Given the description of an element on the screen output the (x, y) to click on. 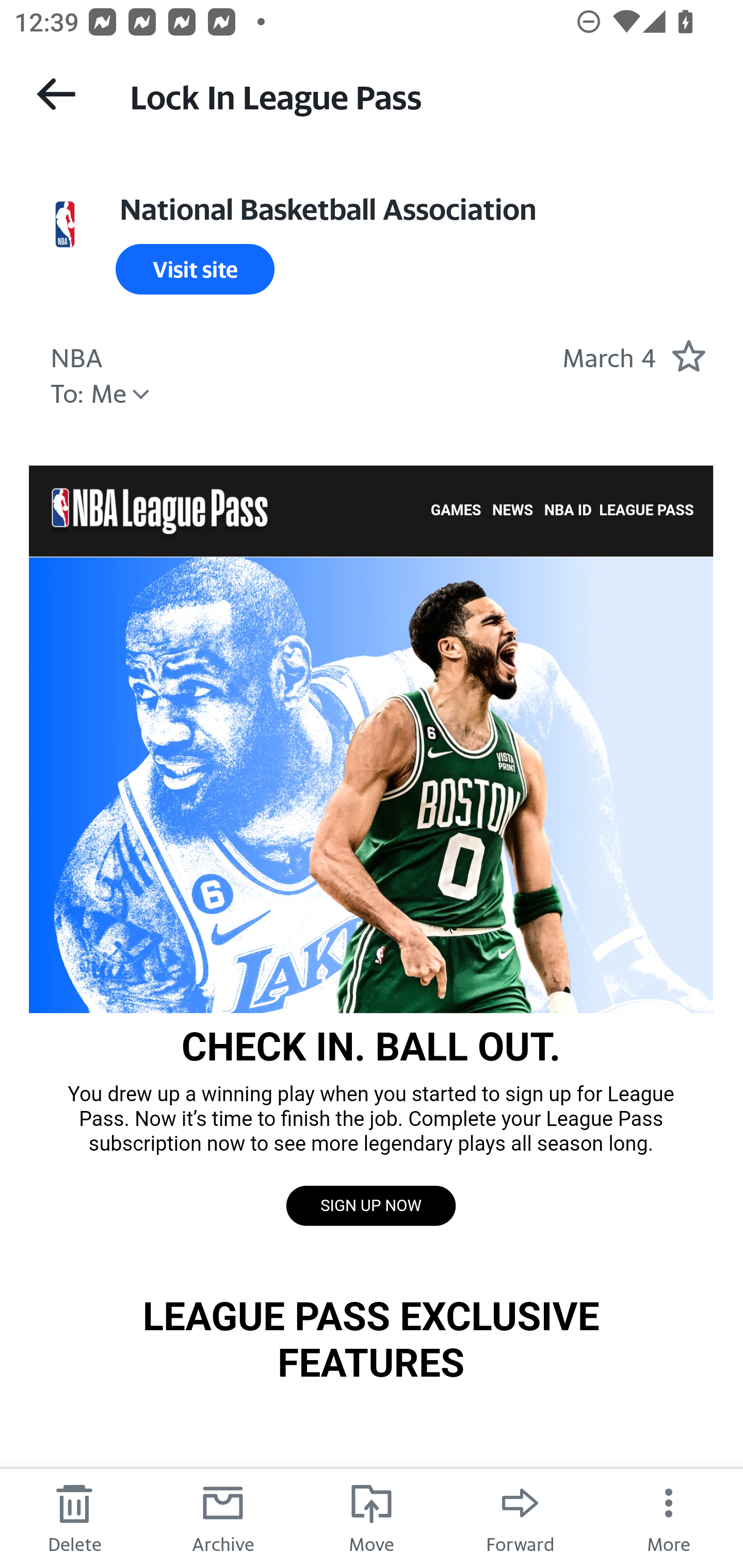
Back (55, 93)
Lock In League Pass (418, 94)
View all messages from sender (64, 225)
Visit site Visit Site Link (194, 269)
NBA Sender NBA (76, 355)
Mark as starred. (688, 355)
GAMES (455, 510)
NEWS (512, 510)
NBA ID (567, 510)
LEAGUE PASS (645, 510)
CHECK IN. BALL OUT. (370, 783)
SIGN UP NOW (370, 1205)
Delete (74, 1517)
Archive (222, 1517)
Move (371, 1517)
Forward (519, 1517)
More (668, 1517)
